Given the description of an element on the screen output the (x, y) to click on. 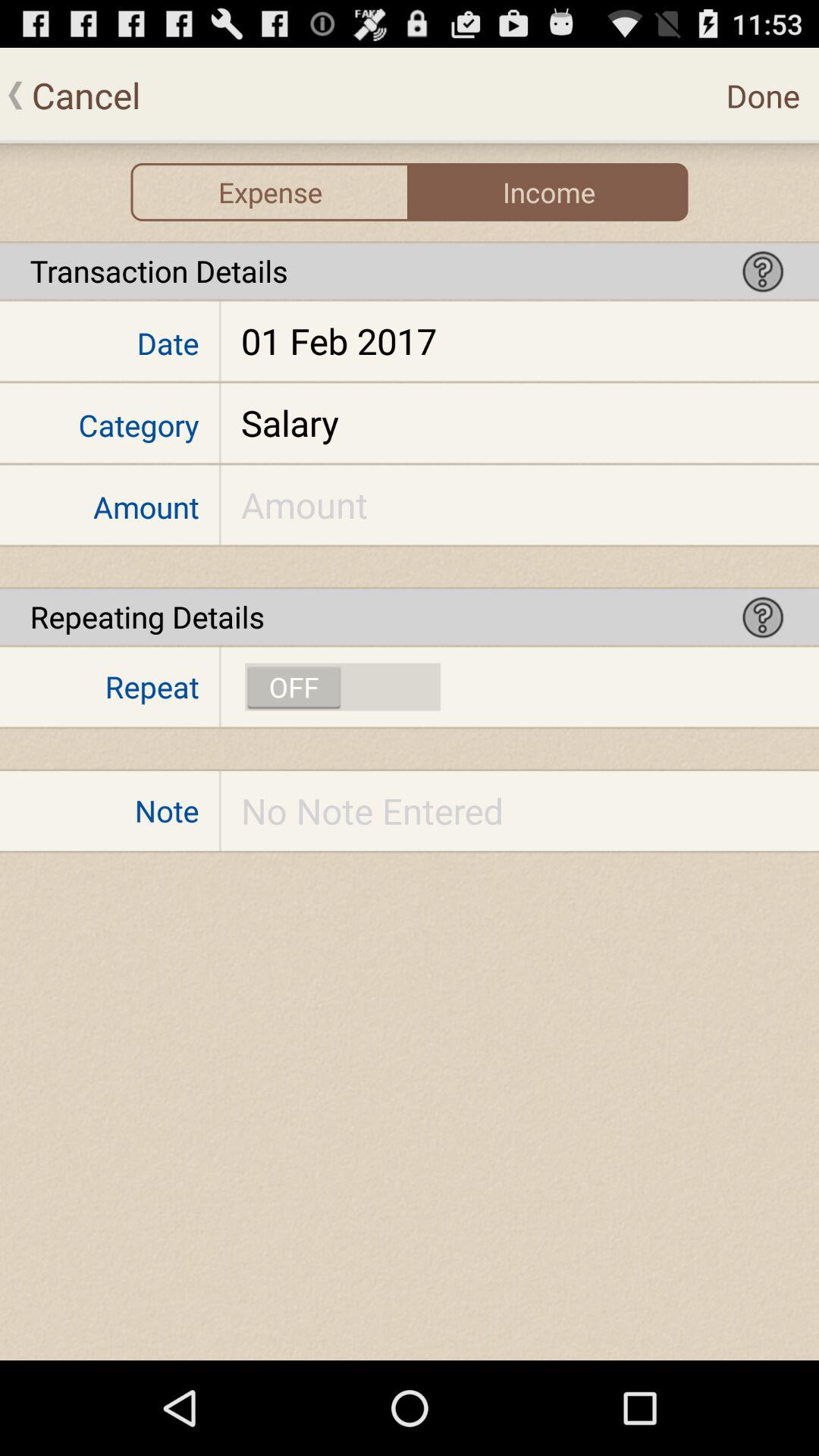
hint button (762, 271)
